Given the description of an element on the screen output the (x, y) to click on. 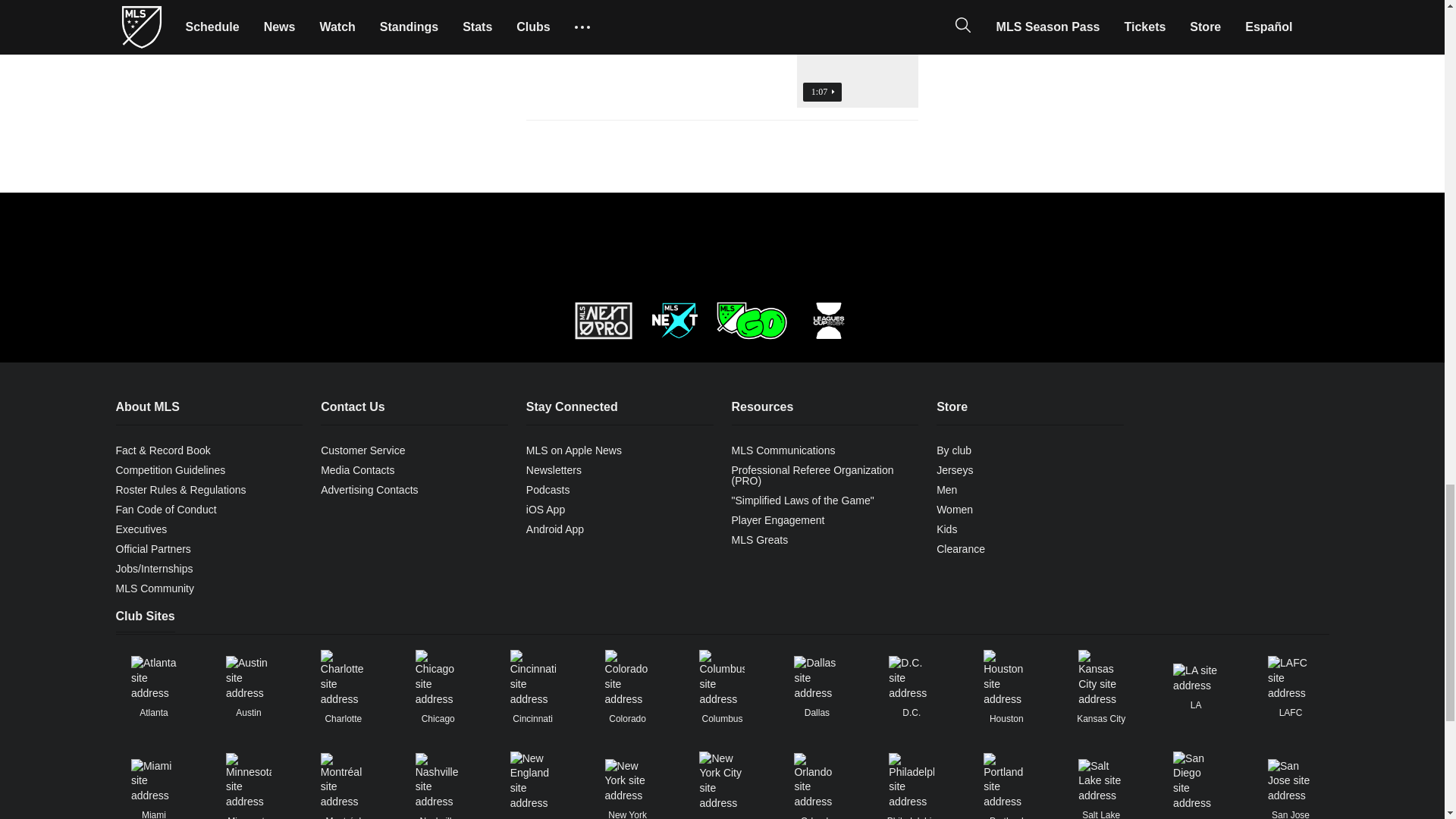
Link to Austin (247, 678)
Goal: F. Torres vs. NSH, 14' (721, 79)
Goal: T. Baribo vs. RBNY, 14' (721, 13)
Link to Atlanta (153, 678)
